Given the description of an element on the screen output the (x, y) to click on. 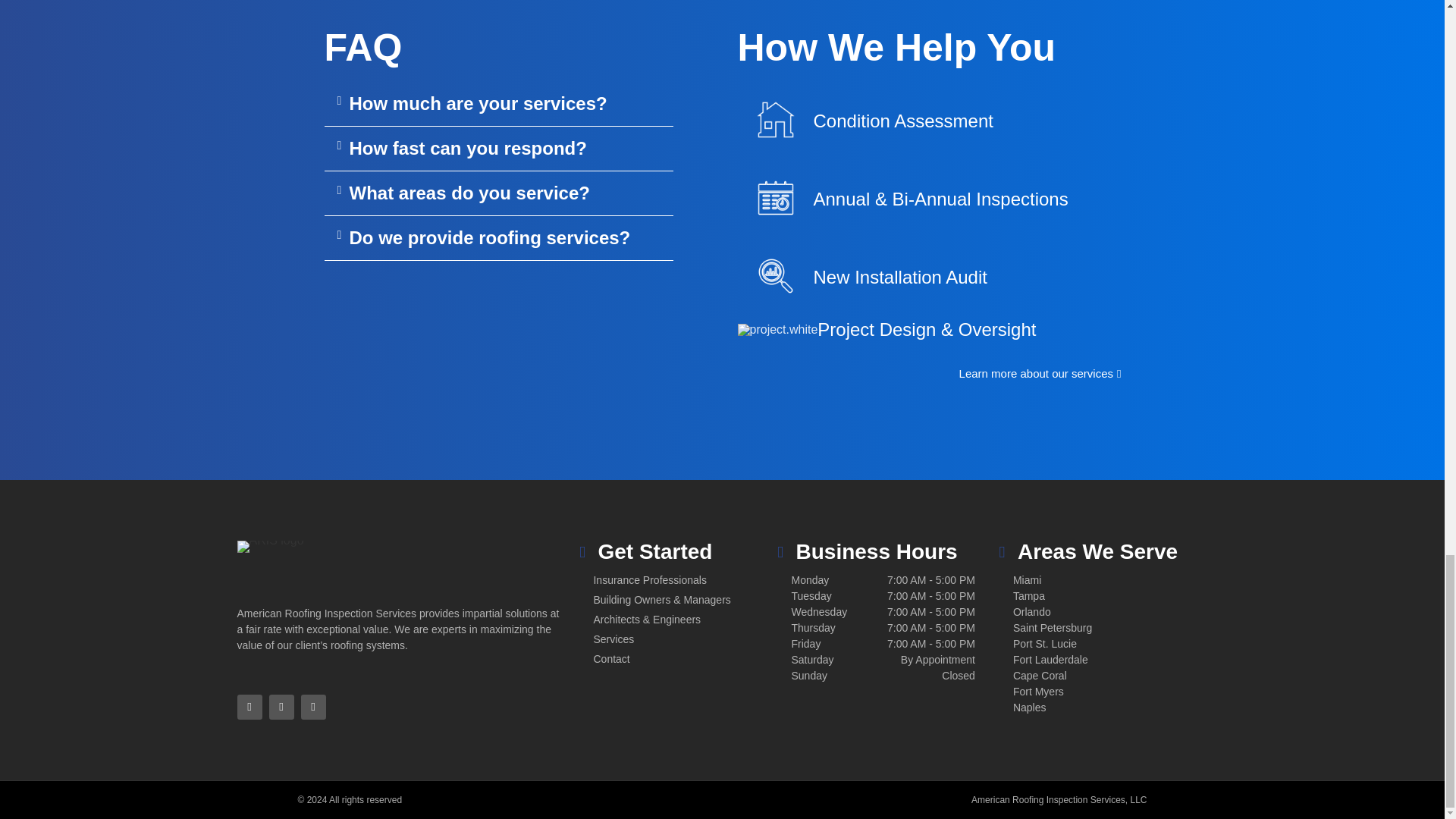
Services (691, 639)
Learn more about our services (1040, 373)
How much are your services? (478, 103)
Insurance Professionals (691, 580)
Contact (691, 659)
What areas do you service? (469, 192)
How fast can you respond? (467, 148)
Do we provide roofing services? (489, 237)
